Given the description of an element on the screen output the (x, y) to click on. 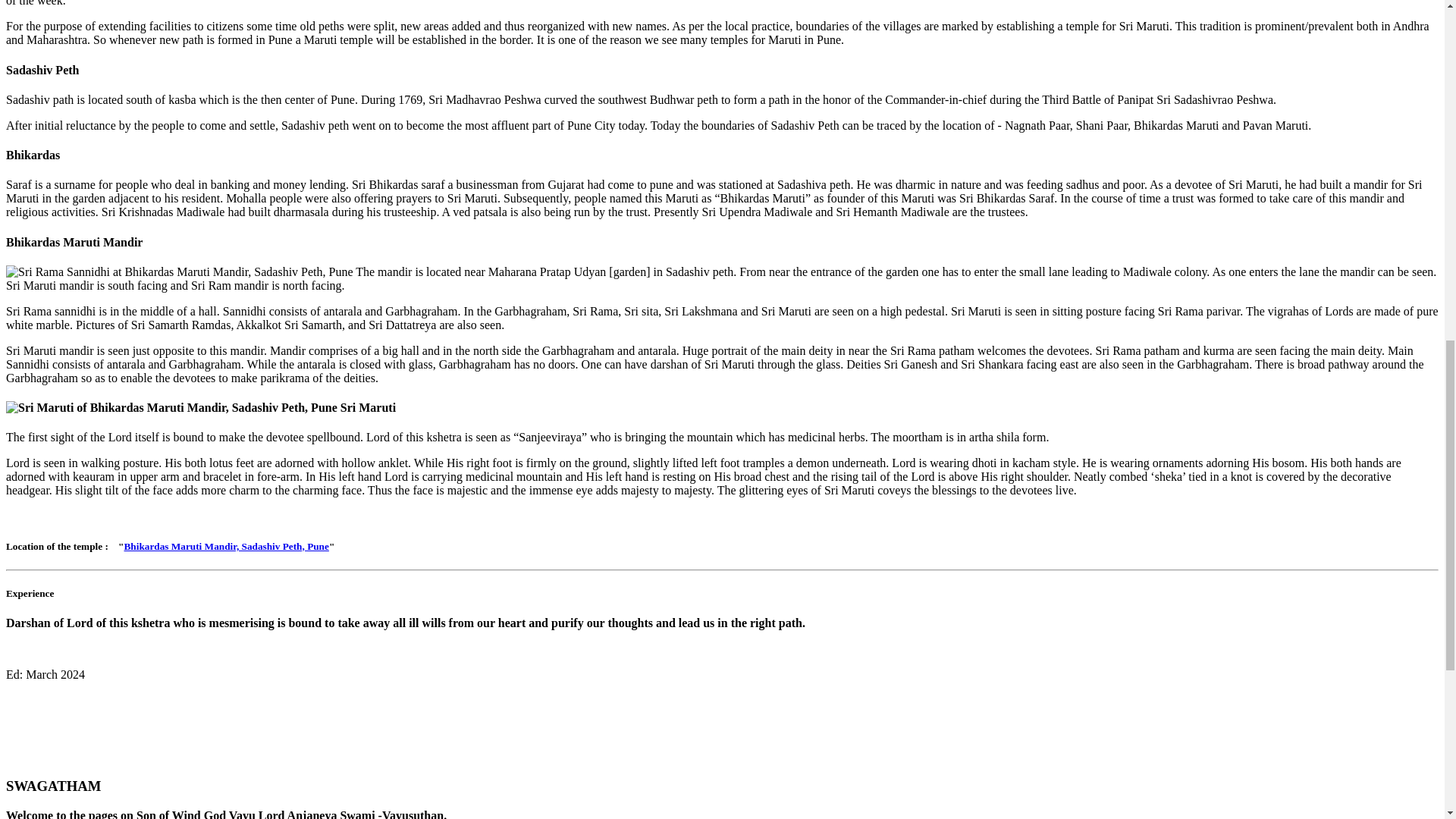
Sri Maruti of Bhikardas Maruti Mandir, Sadashiv Peth, Pune (171, 407)
